Given the description of an element on the screen output the (x, y) to click on. 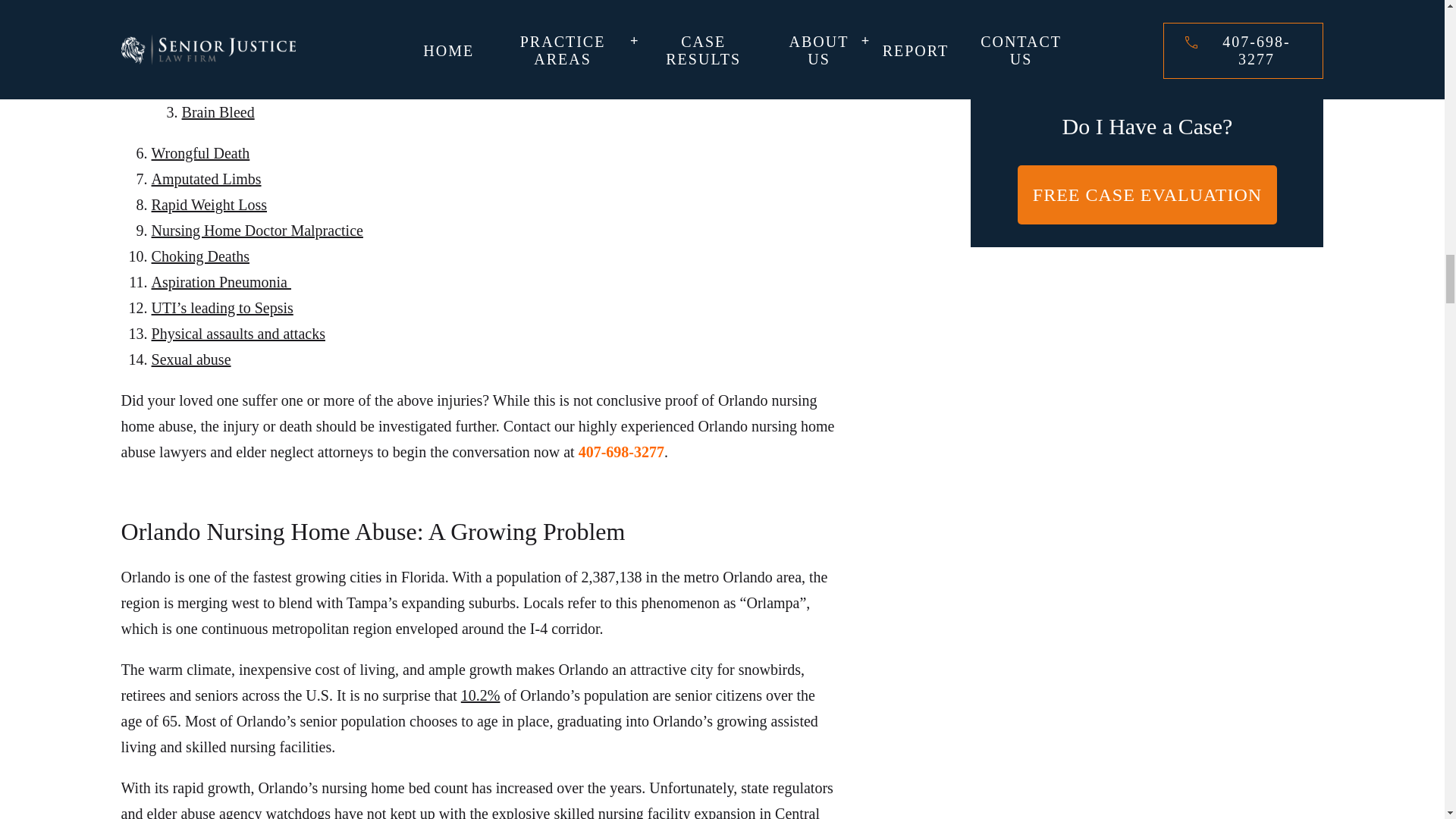
Physical assaults and attacks (237, 333)
Amputated Limbs (206, 178)
Rapid Weight Loss (208, 204)
Broken Hip (217, 60)
Aspiration Pneumonia  (221, 281)
Choking Deaths (199, 256)
Nursing Home Doctor Malpractice (256, 230)
Sexual abuse (191, 359)
Broken Pelvis (224, 86)
Falls Resulting in Serious Injury (250, 34)
Wrongful Death (200, 152)
Unexplained Fractures (220, 8)
Brain Bleed (218, 112)
